Given the description of an element on the screen output the (x, y) to click on. 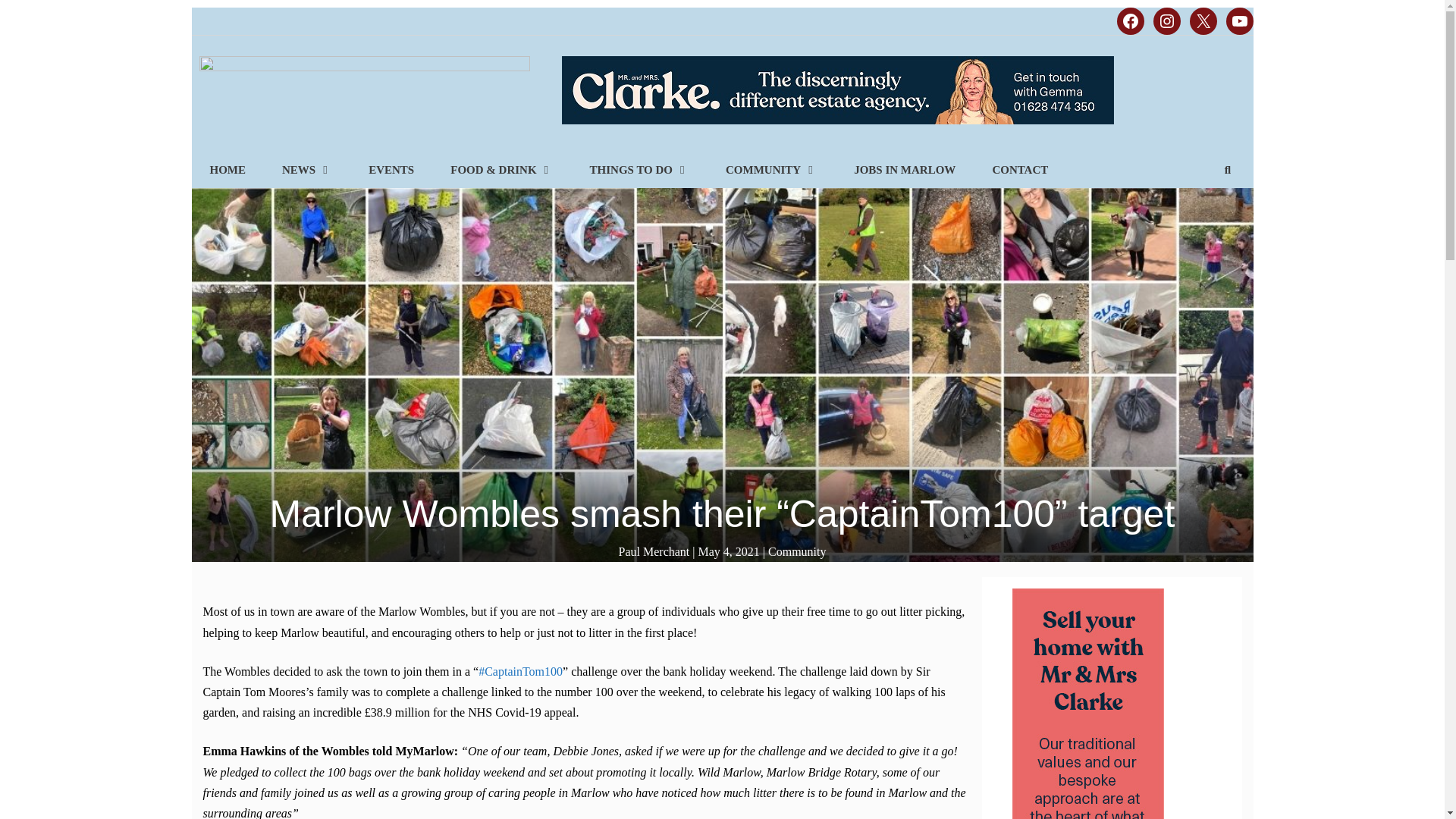
Instagram (1166, 21)
View all posts by Paul Merchant (654, 551)
Facebook (1129, 21)
X (1202, 21)
YouTube (1238, 21)
